Given the description of an element on the screen output the (x, y) to click on. 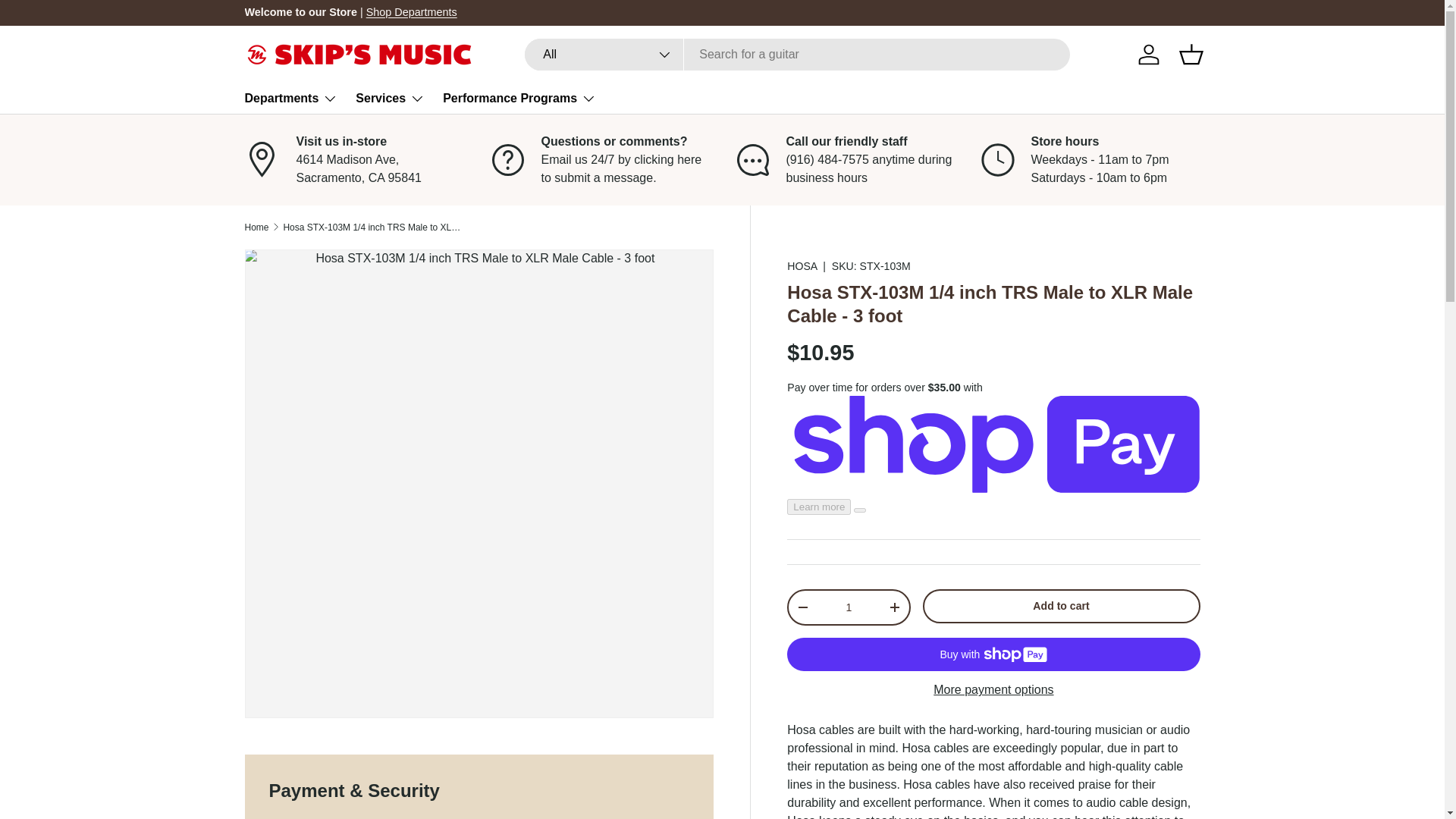
1 (847, 607)
Departments (290, 98)
Log in (1147, 54)
Grab a Gift Card! (1338, 11)
Gift Card (1338, 11)
All collections (411, 11)
Basket (1190, 54)
All (604, 54)
Skip to content (69, 21)
Shop Departments (411, 11)
Services (390, 98)
